Given the description of an element on the screen output the (x, y) to click on. 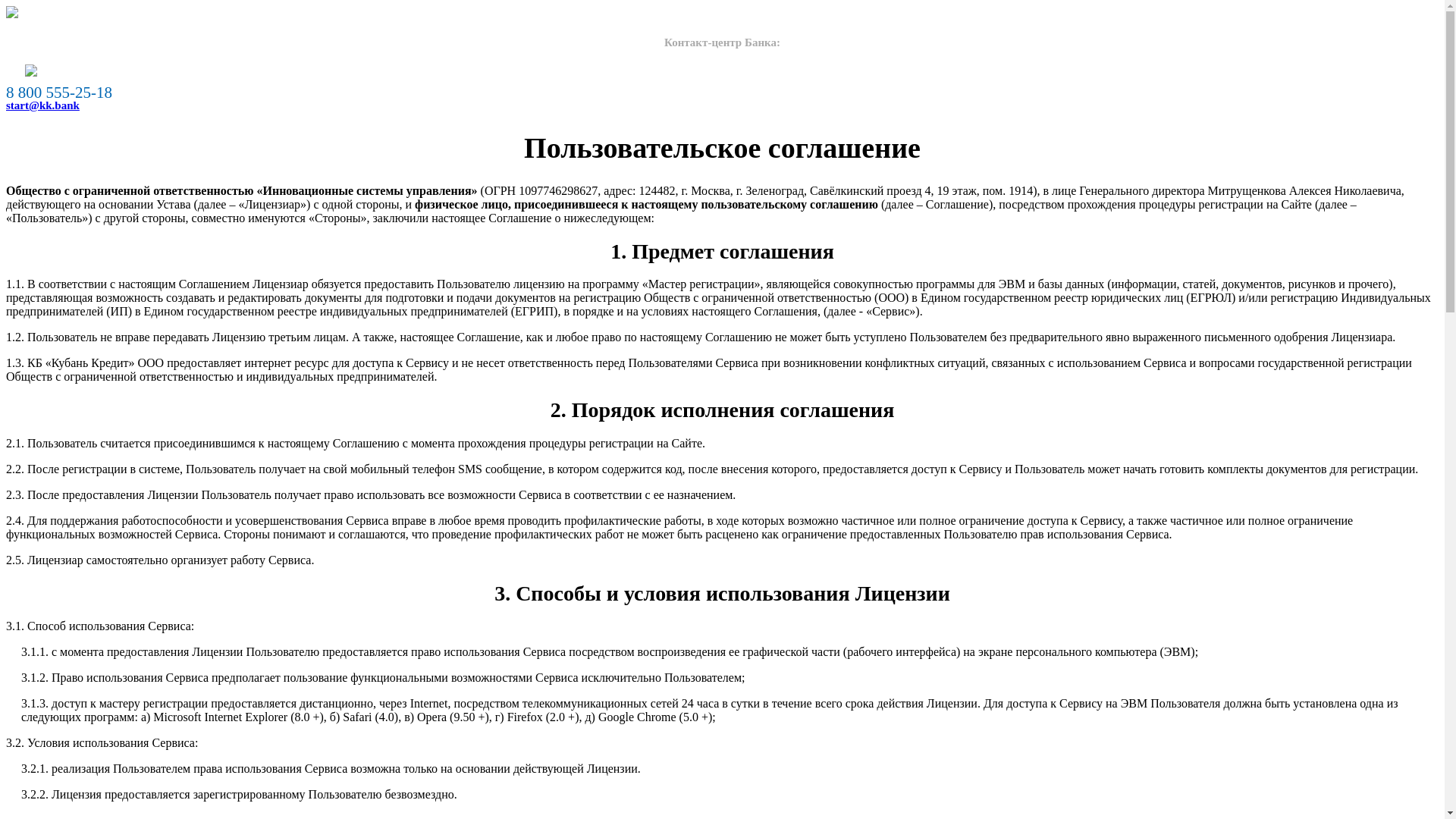
start@kk.bank Element type: text (42, 105)
